Given the description of an element on the screen output the (x, y) to click on. 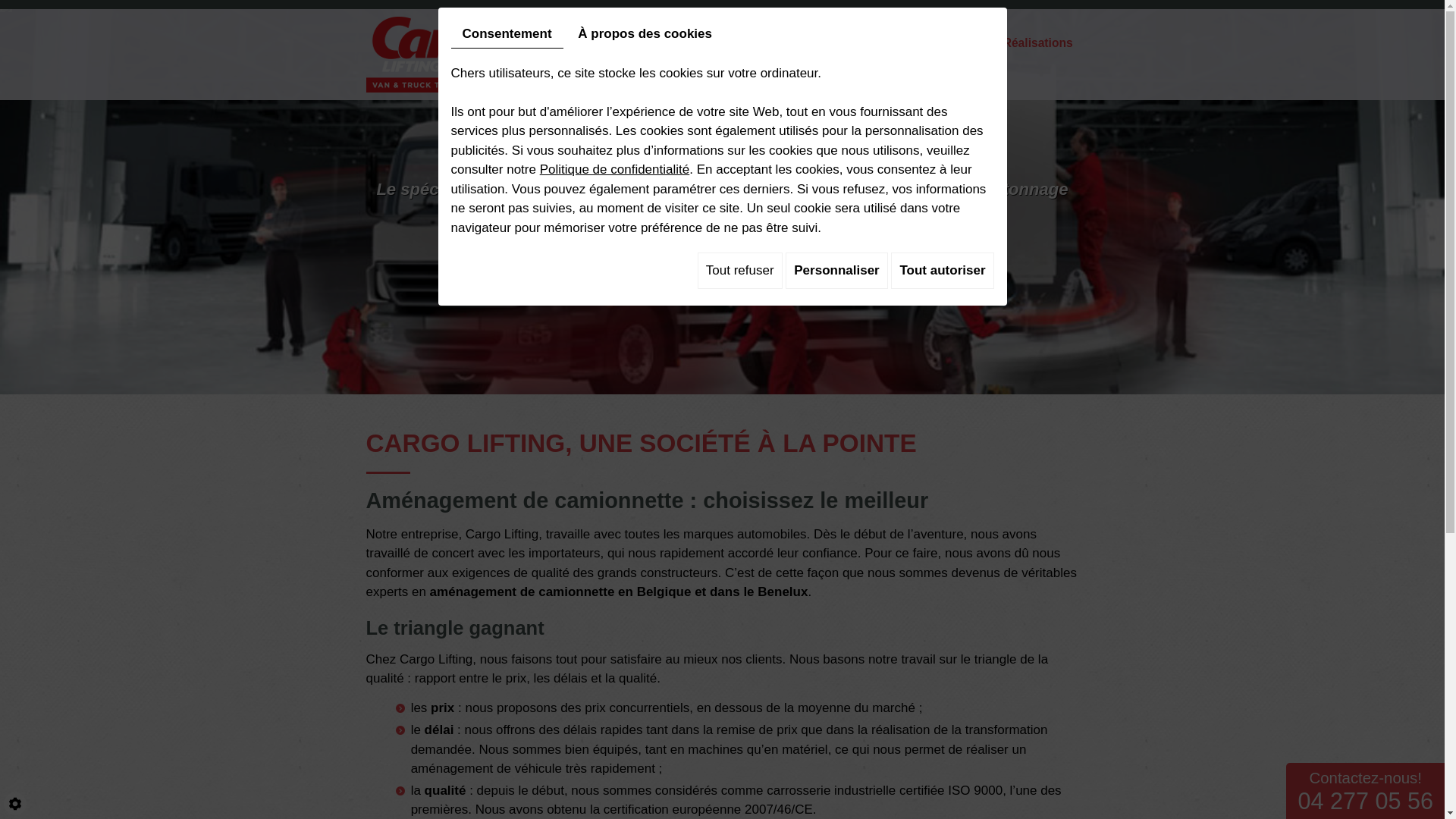
Cargo Lifting Element type: hover (436, 54)
Fonctionnement Element type: text (741, 43)
Quelques chiffres Element type: text (856, 43)
Avantages Element type: text (954, 43)
Personnaliser Element type: text (836, 270)
Tout autoriser Element type: text (942, 270)
Cargo Lifting Element type: hover (436, 53)
Accueil Element type: text (566, 43)
CONTACT Element type: text (722, 237)
Consentement Element type: text (506, 34)
Tout refuser Element type: text (739, 270)
